Given the description of an element on the screen output the (x, y) to click on. 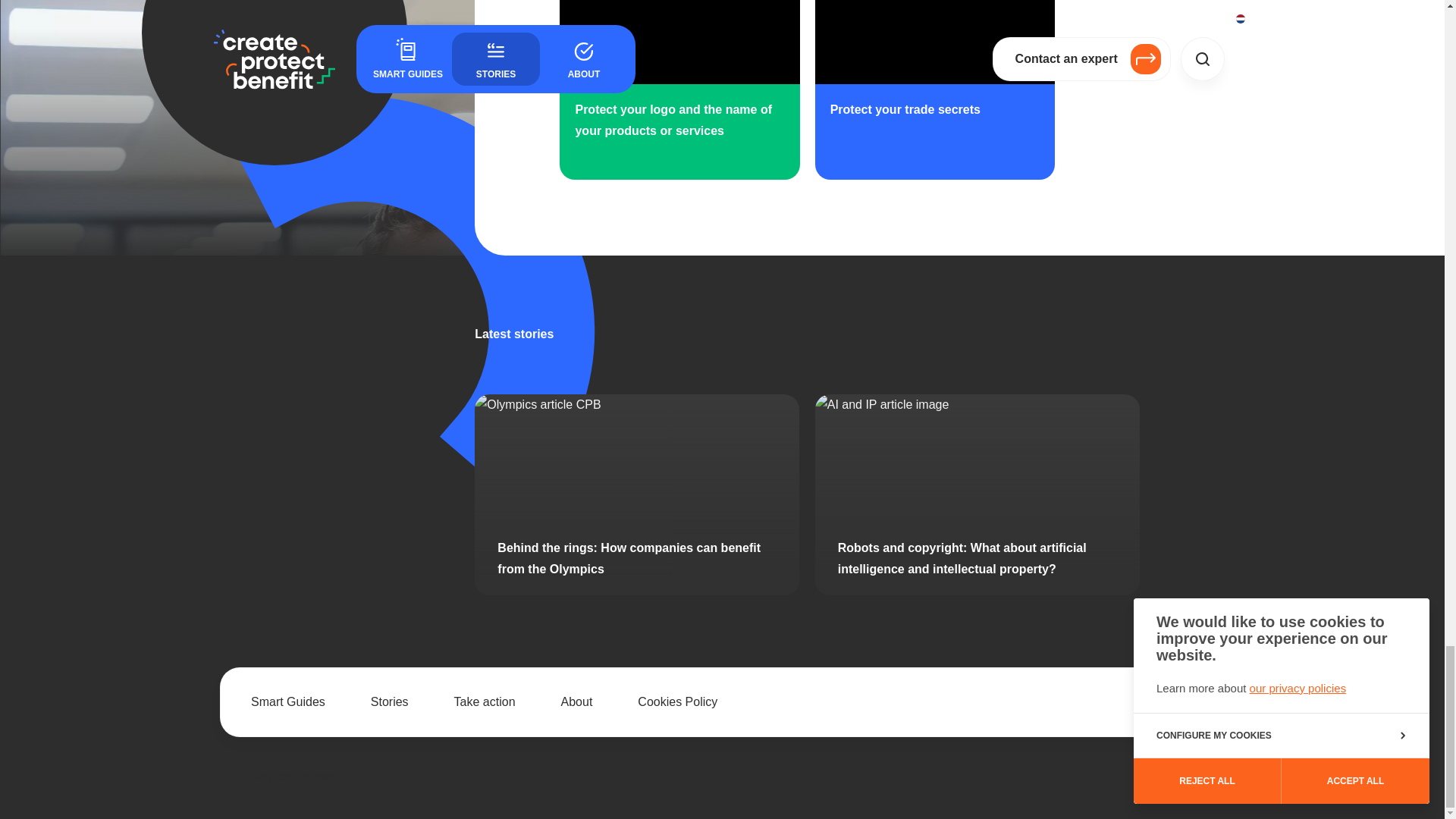
Protect your trade secrets (905, 121)
Change Country or Language (1165, 777)
Stories (390, 701)
YouTube (1145, 702)
Smart Guides (287, 701)
About (576, 701)
PRIVACY SETTINGS (294, 777)
Cookies Policy (677, 701)
